Given the description of an element on the screen output the (x, y) to click on. 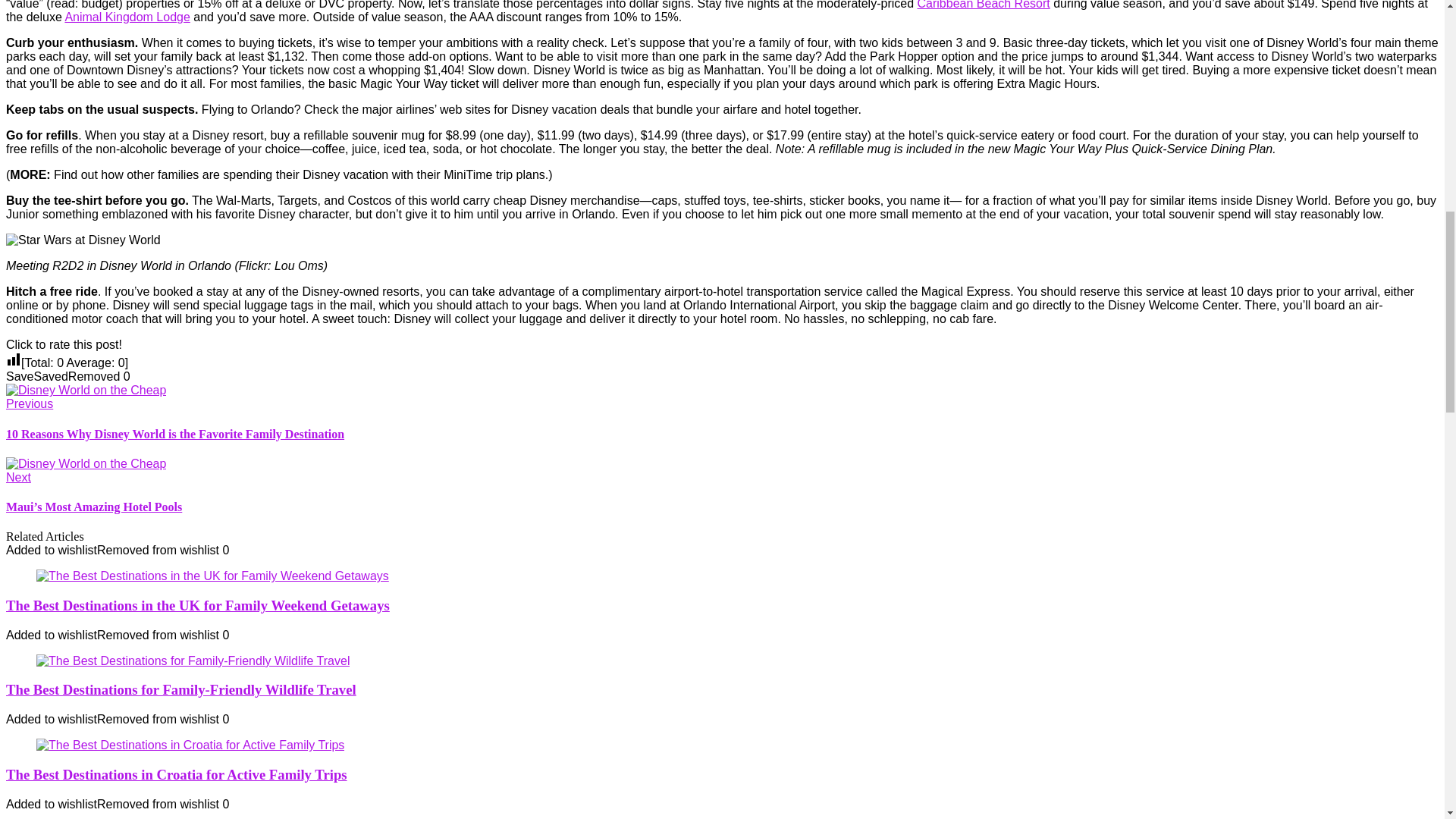
Animal Kingdom Lodge (126, 16)
The Best Destinations for Family-Friendly Wildlife Travel (180, 689)
The Best Destinations in the UK for Family Weekend Getaways (197, 605)
Caribbean Beach Resort (983, 4)
The Best Destinations in Croatia for Active Family Trips (176, 774)
